Given the description of an element on the screen output the (x, y) to click on. 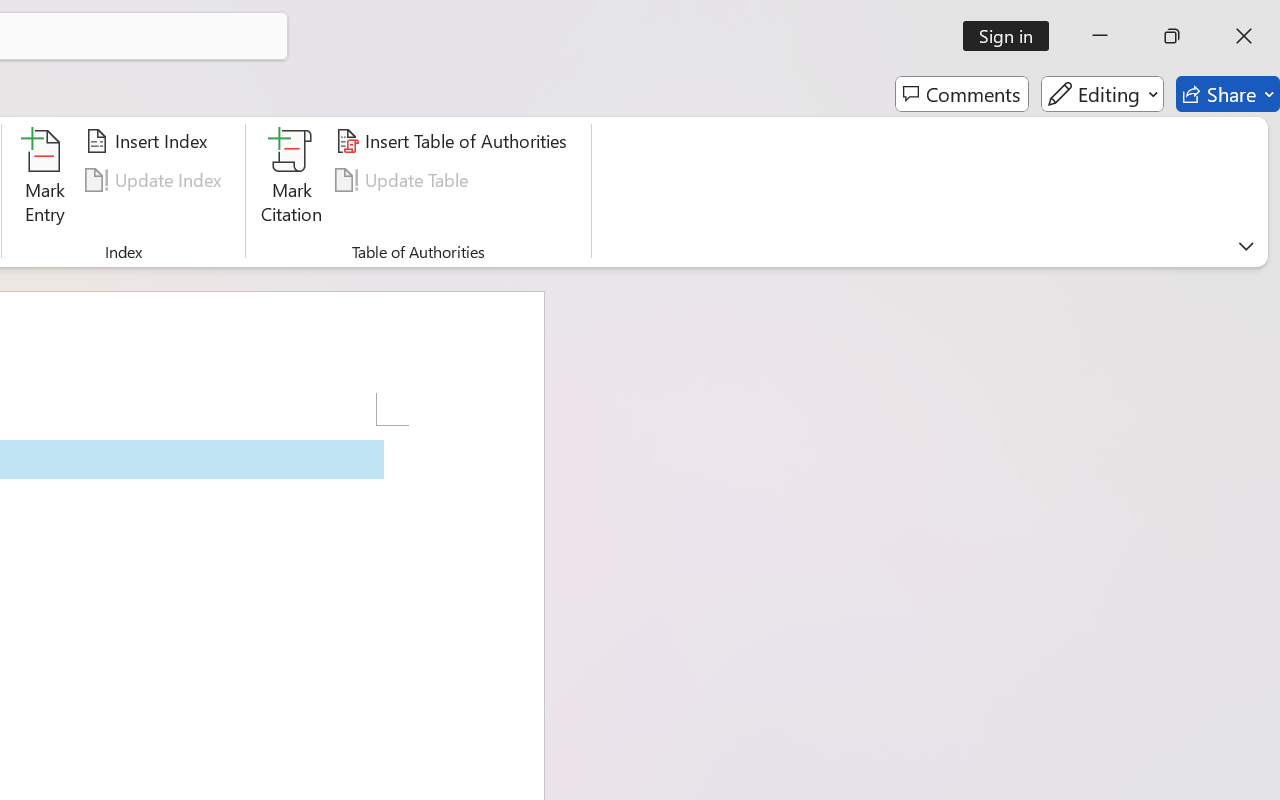
Mark Entry... (44, 179)
Editing (1101, 94)
Sign in (1012, 35)
Insert Index... (149, 141)
Update Index (156, 179)
Insert Table of Authorities... (453, 141)
Update Table (404, 179)
Mark Citation... (292, 179)
